Given the description of an element on the screen output the (x, y) to click on. 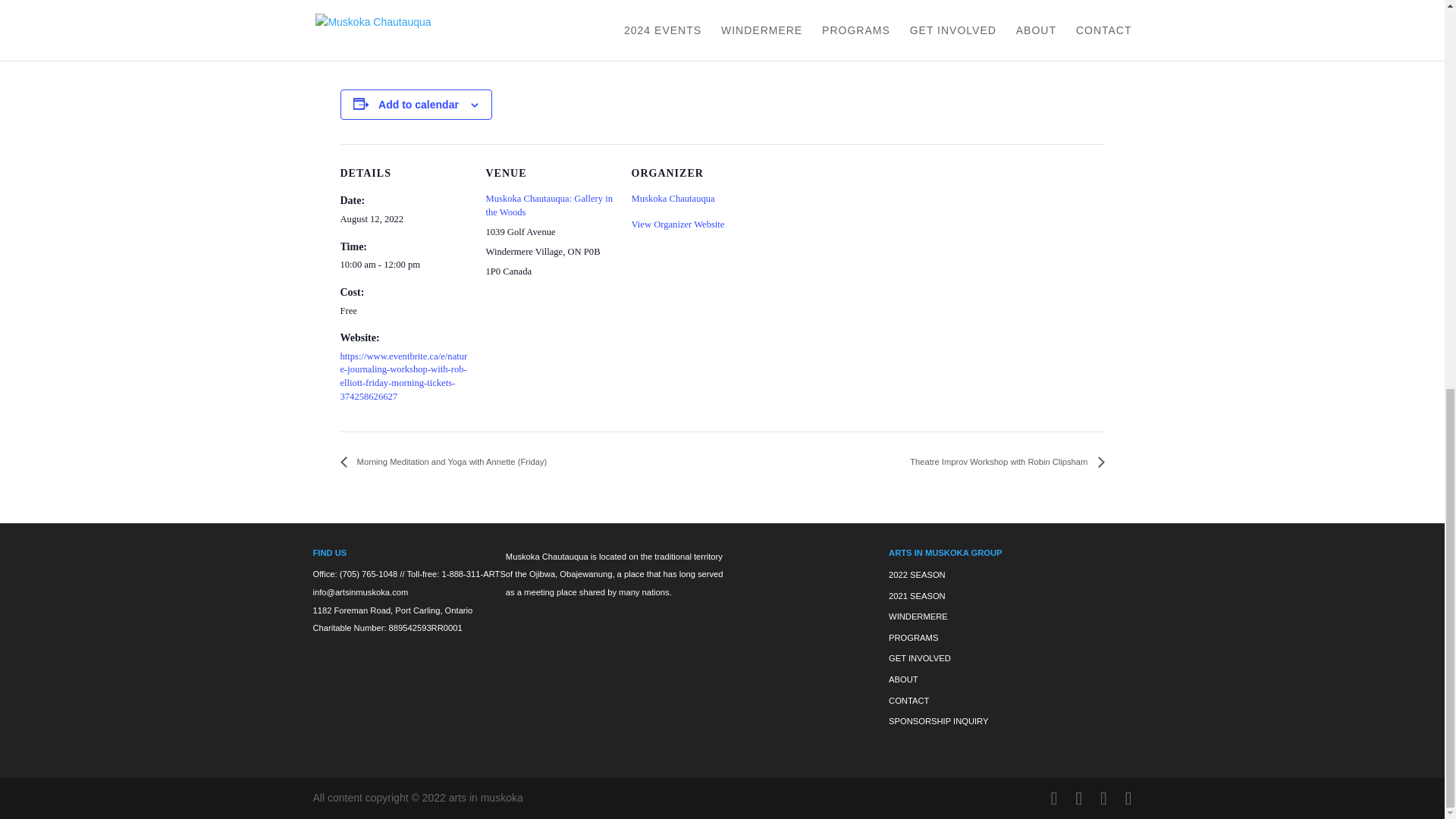
Add to calendar (418, 104)
2021 SEASON (916, 595)
SPONSORSHIP INQUIRY (938, 720)
View Organizer Website (676, 224)
GET INVOLVED (919, 657)
ON (573, 251)
Muskoka Chautauqua (672, 198)
2022 SEASON (916, 574)
Theatre Improv Workshop with Robin Clipsham (1002, 461)
Muskoka Chautauqua (672, 198)
2022-08-12 (371, 218)
CONTACT (908, 700)
2022-08-12 (403, 264)
PROGRAMS (912, 637)
ABOUT (903, 678)
